Given the description of an element on the screen output the (x, y) to click on. 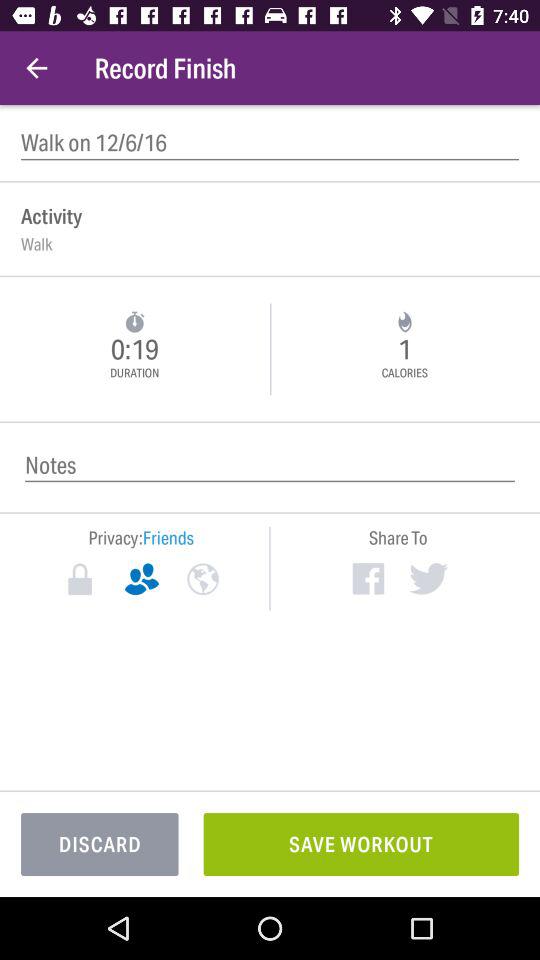
launch the icon to the left of record finish (36, 68)
